Given the description of an element on the screen output the (x, y) to click on. 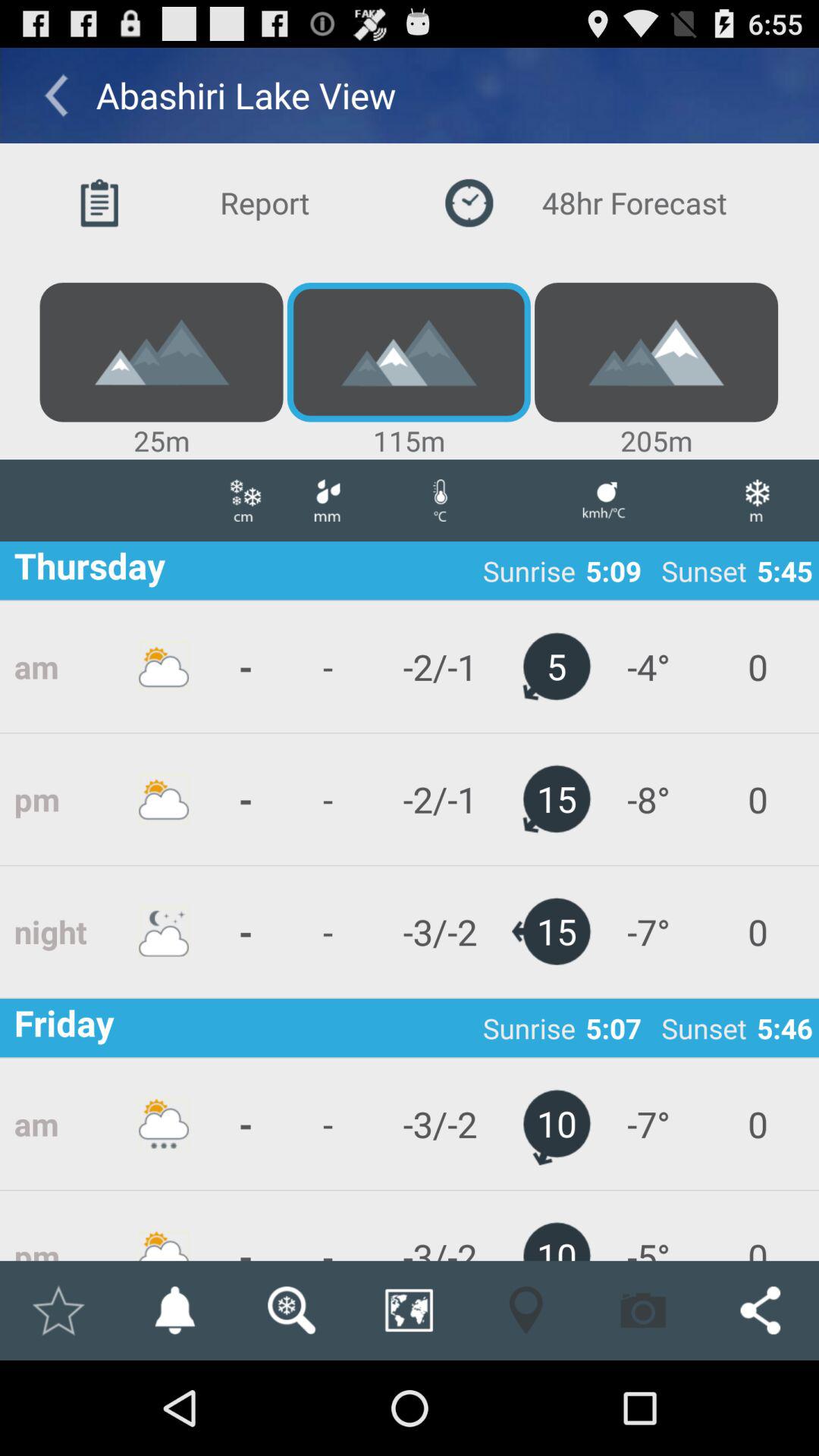
insert photo from gallery (642, 1310)
